Given the description of an element on the screen output the (x, y) to click on. 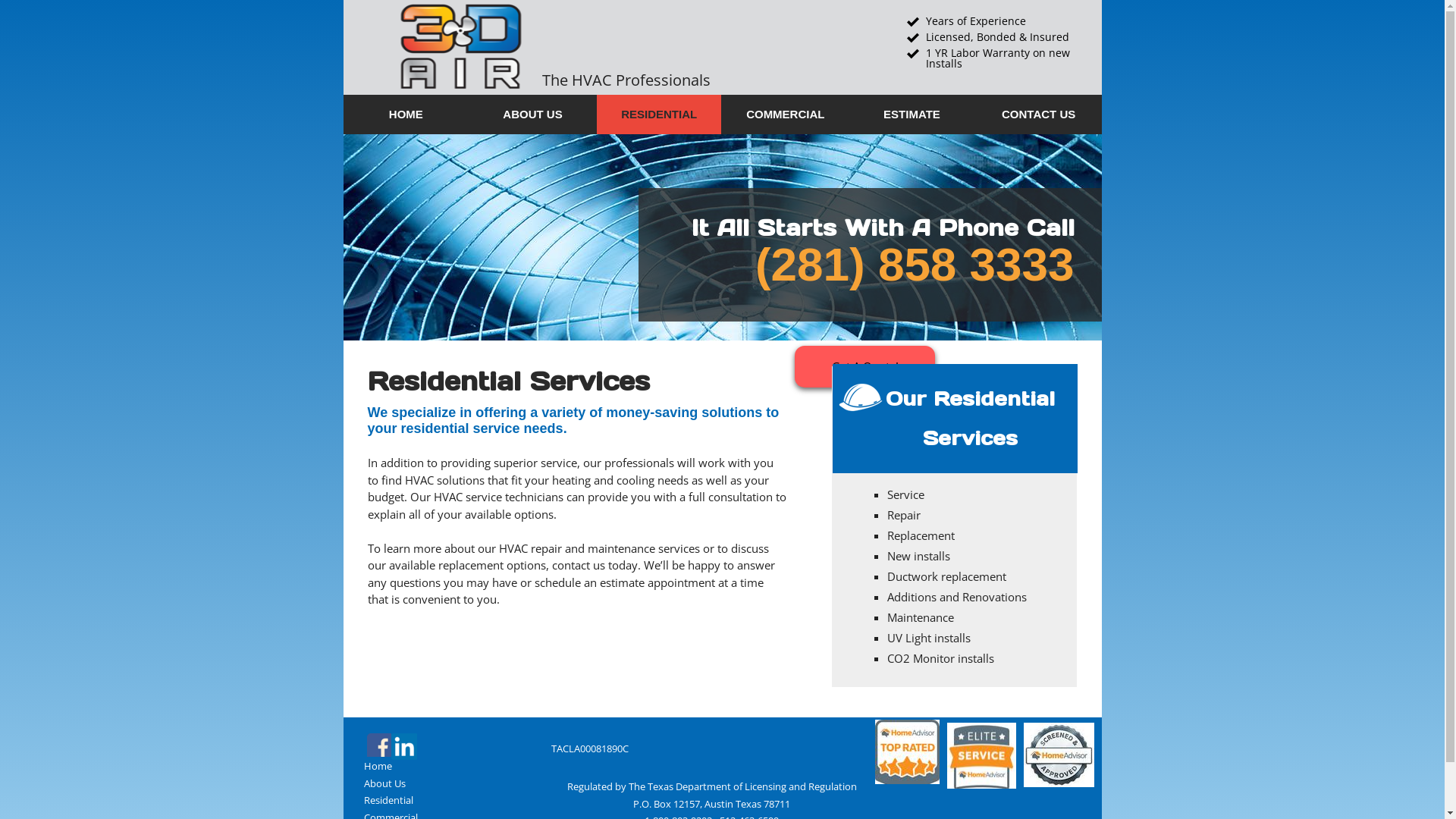
COMMERCIAL Element type: text (784, 114)
ABOUT US Element type: text (532, 114)
RESIDENTIAL Element type: text (658, 114)
Residential Element type: text (388, 799)
HOME Element type: text (405, 114)
Get A Quote! Element type: text (864, 366)
Home Element type: text (378, 765)
CONTACT US Element type: text (1038, 114)
About Us Element type: text (384, 783)
ESTIMATE Element type: text (911, 114)
